Given the description of an element on the screen output the (x, y) to click on. 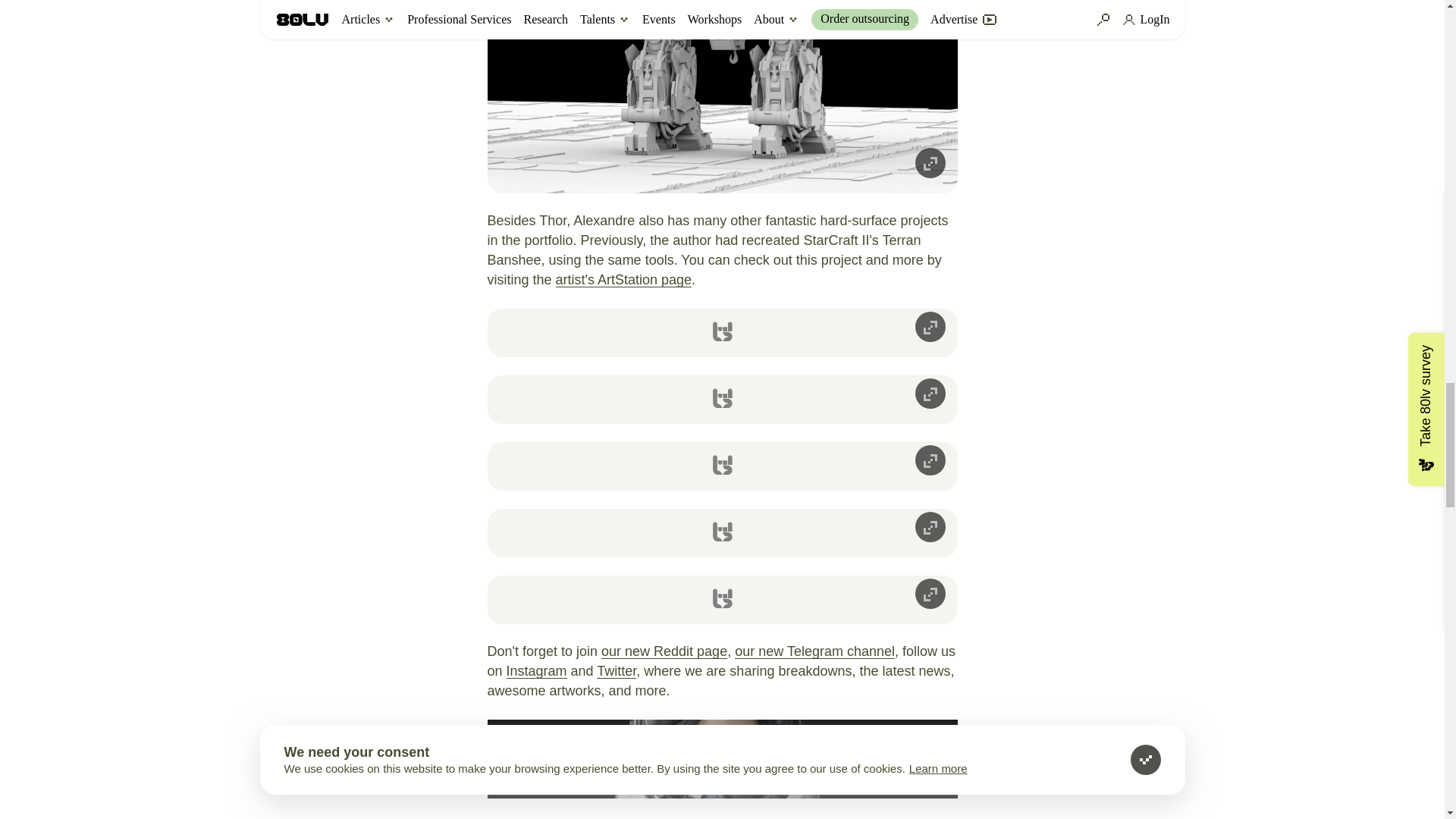
Join Today (888, 758)
Twitter (616, 670)
our new Reddit page (663, 651)
our new Telegram channel (815, 651)
Instagram (536, 670)
artist's ArtStation page (624, 279)
